Given the description of an element on the screen output the (x, y) to click on. 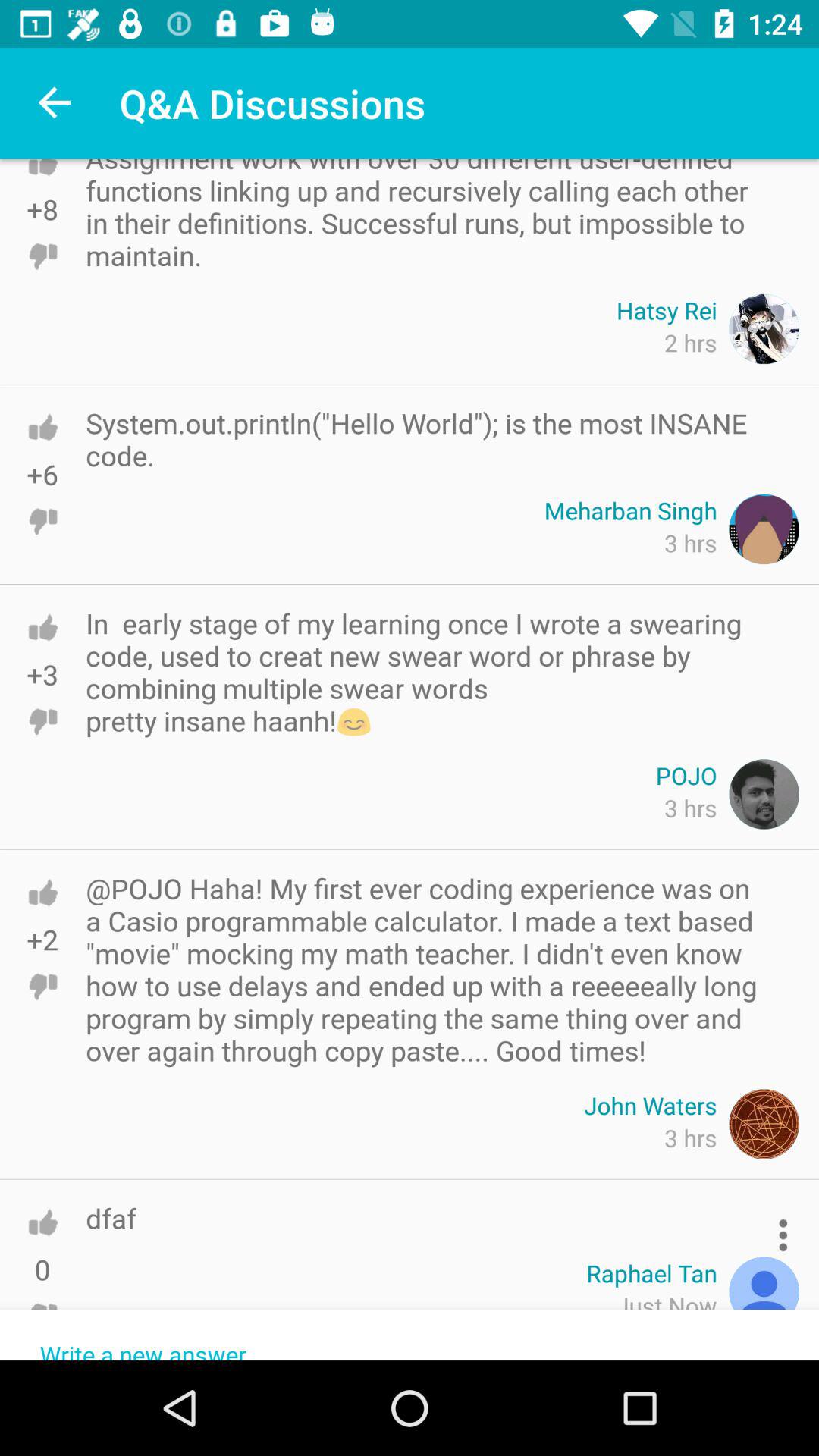
upvote the comment (42, 627)
